Given the description of an element on the screen output the (x, y) to click on. 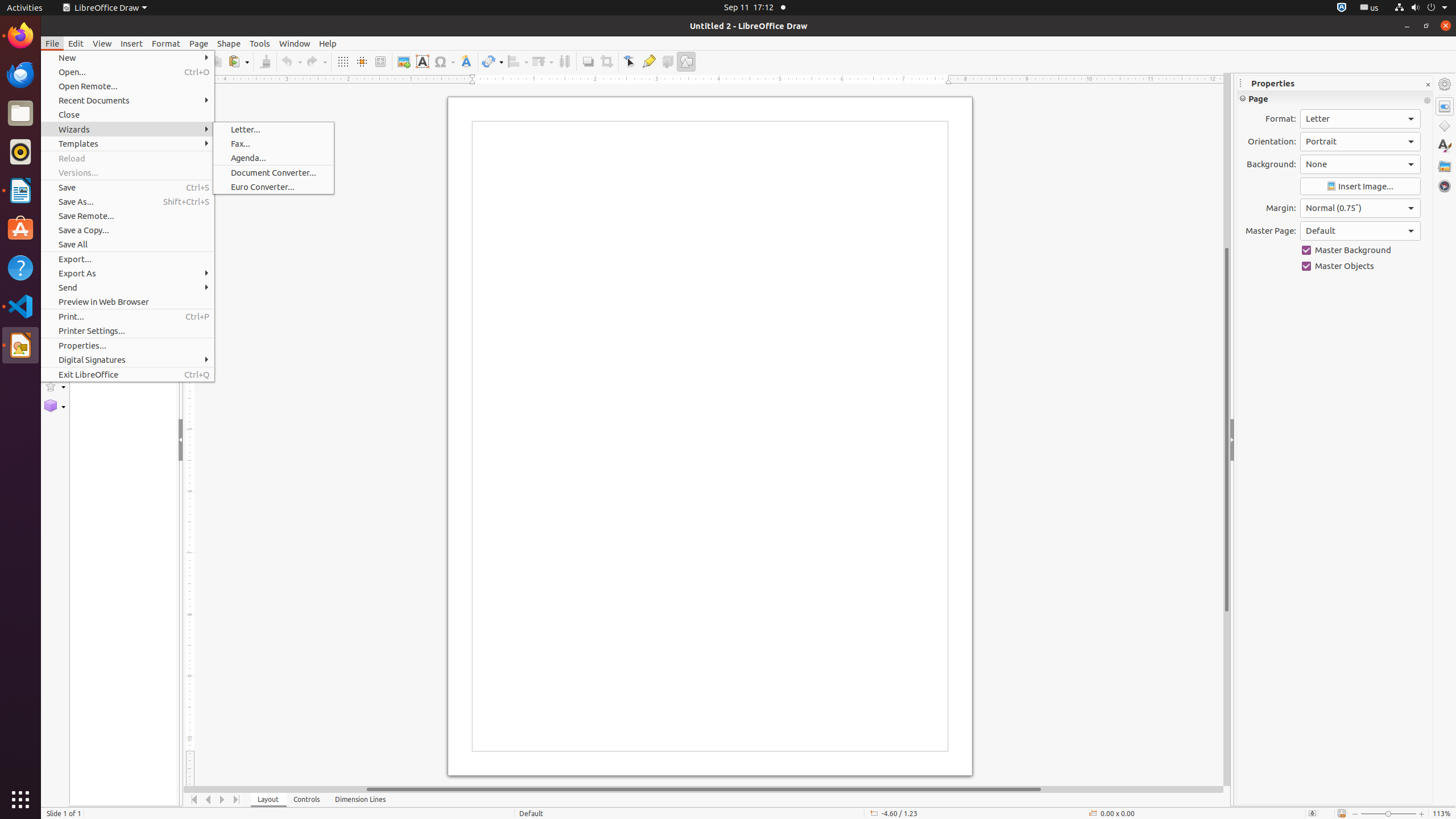
Save As... Element type: menu-item (127, 201)
Move To Home Element type: push-button (194, 799)
Shape Element type: menu (228, 43)
Move Left Element type: push-button (208, 799)
Save Element type: menu-item (127, 187)
